Given the description of an element on the screen output the (x, y) to click on. 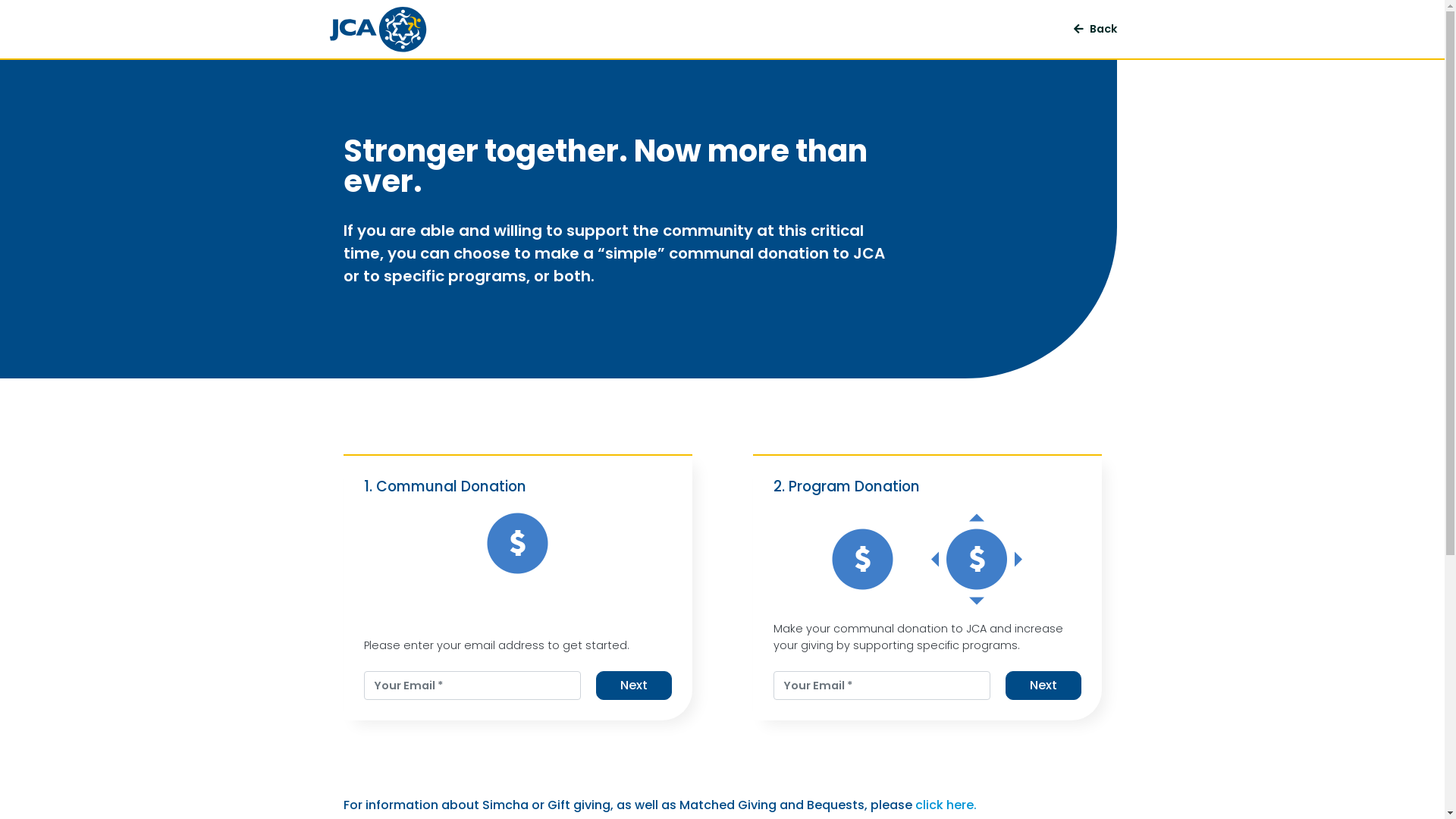
click here. Element type: text (944, 804)
Next Element type: text (633, 685)
Next Element type: text (1043, 685)
Back Element type: text (1094, 28)
